Given the description of an element on the screen output the (x, y) to click on. 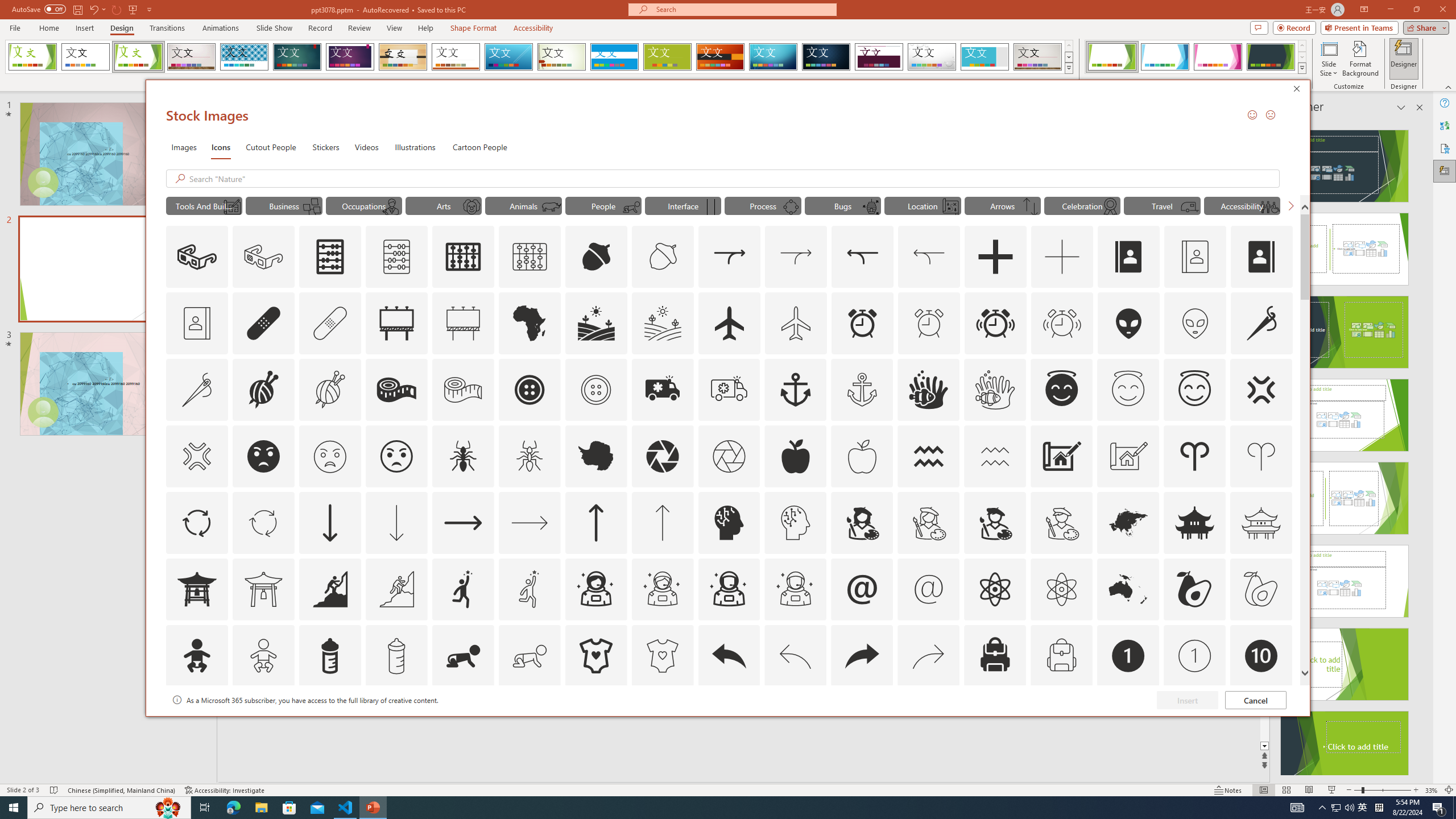
AutomationID: Icons_UniversalAccess_M (1269, 206)
Action Center, 1 new notification (1439, 807)
AutomationID: Icons_ArrowRight_M (529, 522)
"Accessibility" Icons. (1241, 205)
AutomationID: Icons_3dGlasses (197, 256)
Facet Variant 1 (1112, 56)
Icons (220, 146)
AutomationID: Icons_Aspiration_M (395, 588)
